Given the description of an element on the screen output the (x, y) to click on. 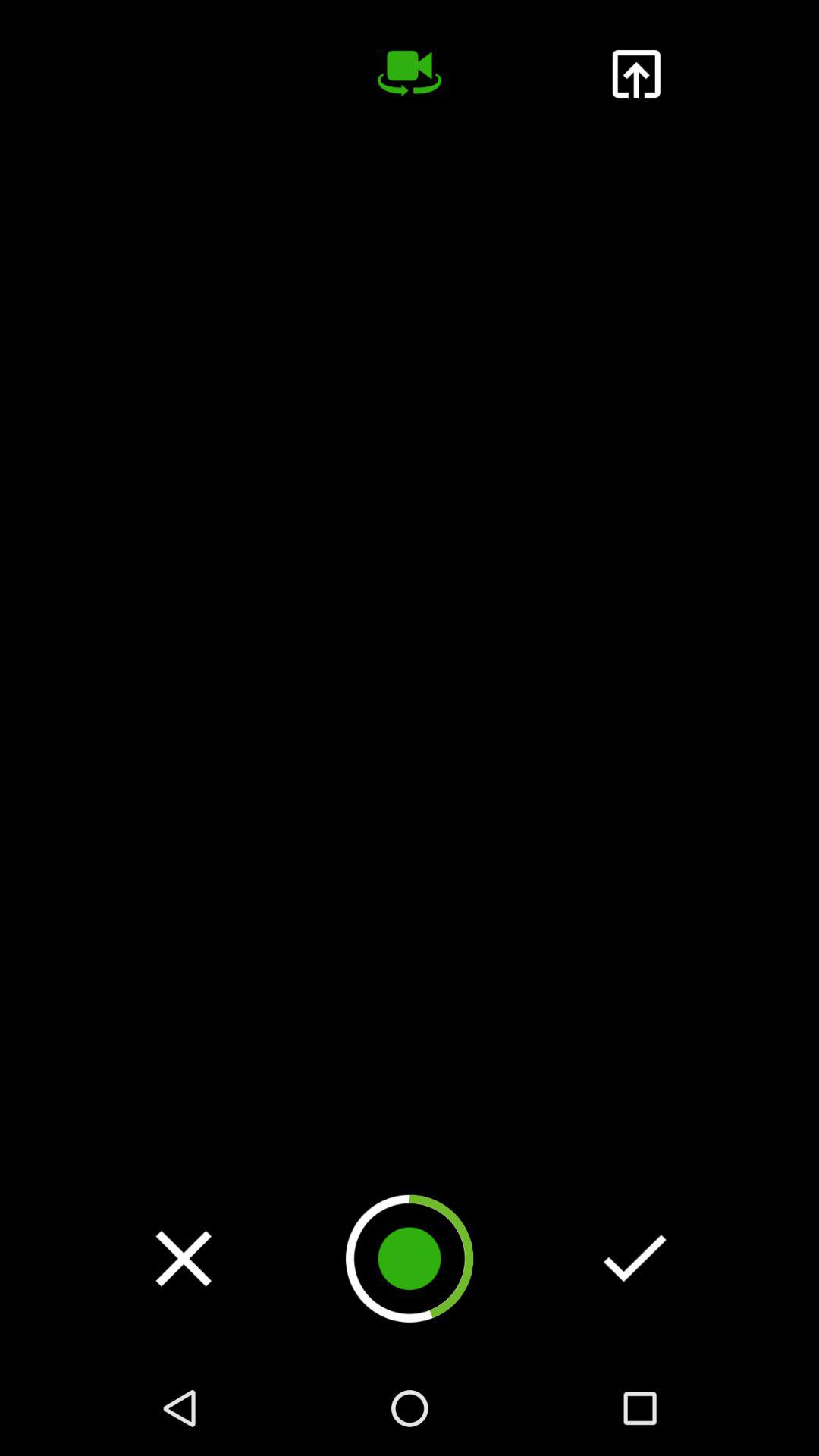
close button (183, 1258)
